Given the description of an element on the screen output the (x, y) to click on. 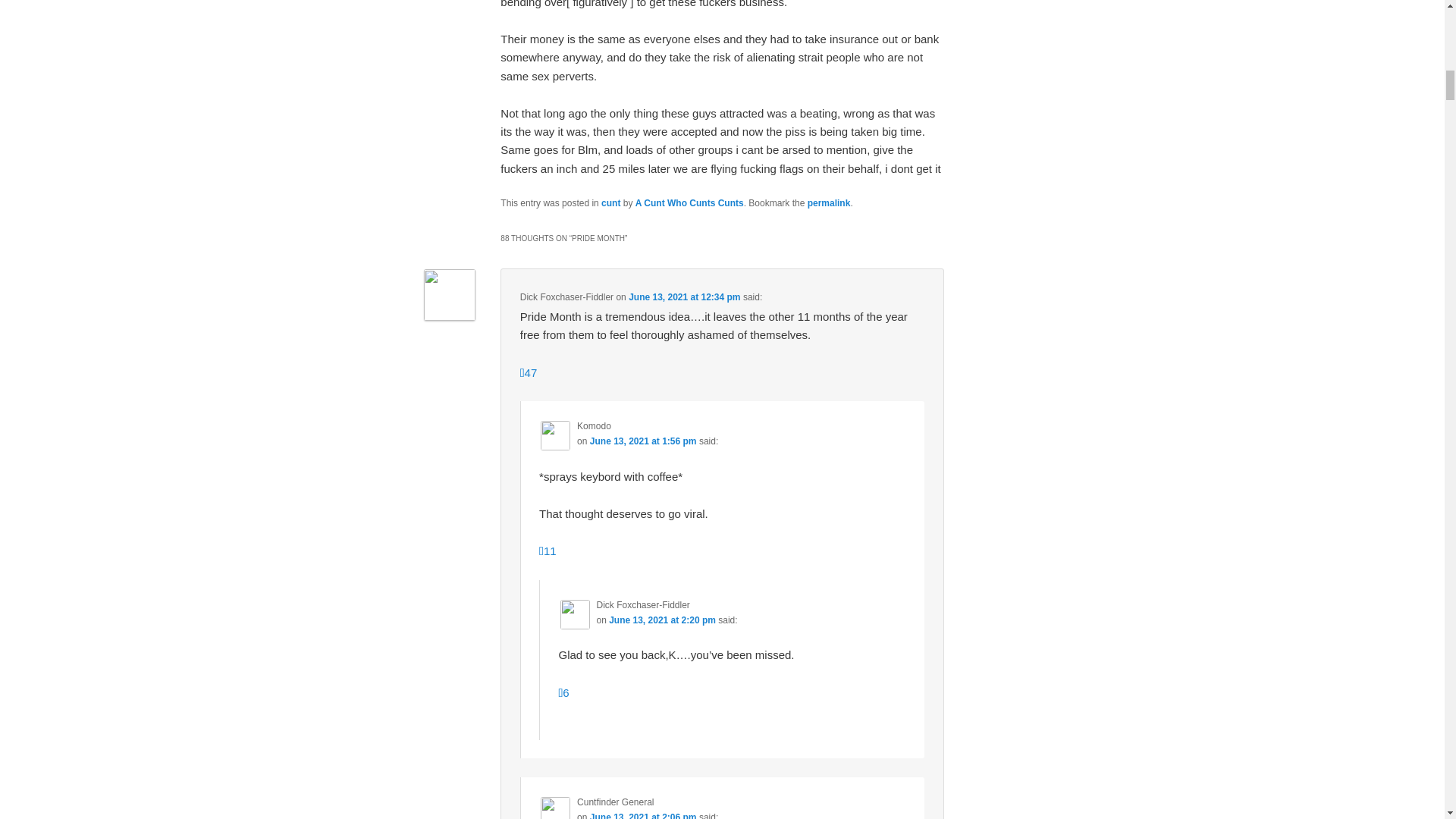
June 13, 2021 at 2:20 pm (662, 620)
11 (547, 550)
cunt (610, 203)
June 13, 2021 at 2:06 pm (643, 815)
June 13, 2021 at 1:56 pm (643, 440)
permalink (829, 203)
47 (528, 372)
A Cunt Who Cunts Cunts (689, 203)
June 13, 2021 at 12:34 pm (683, 296)
